Given the description of an element on the screen output the (x, y) to click on. 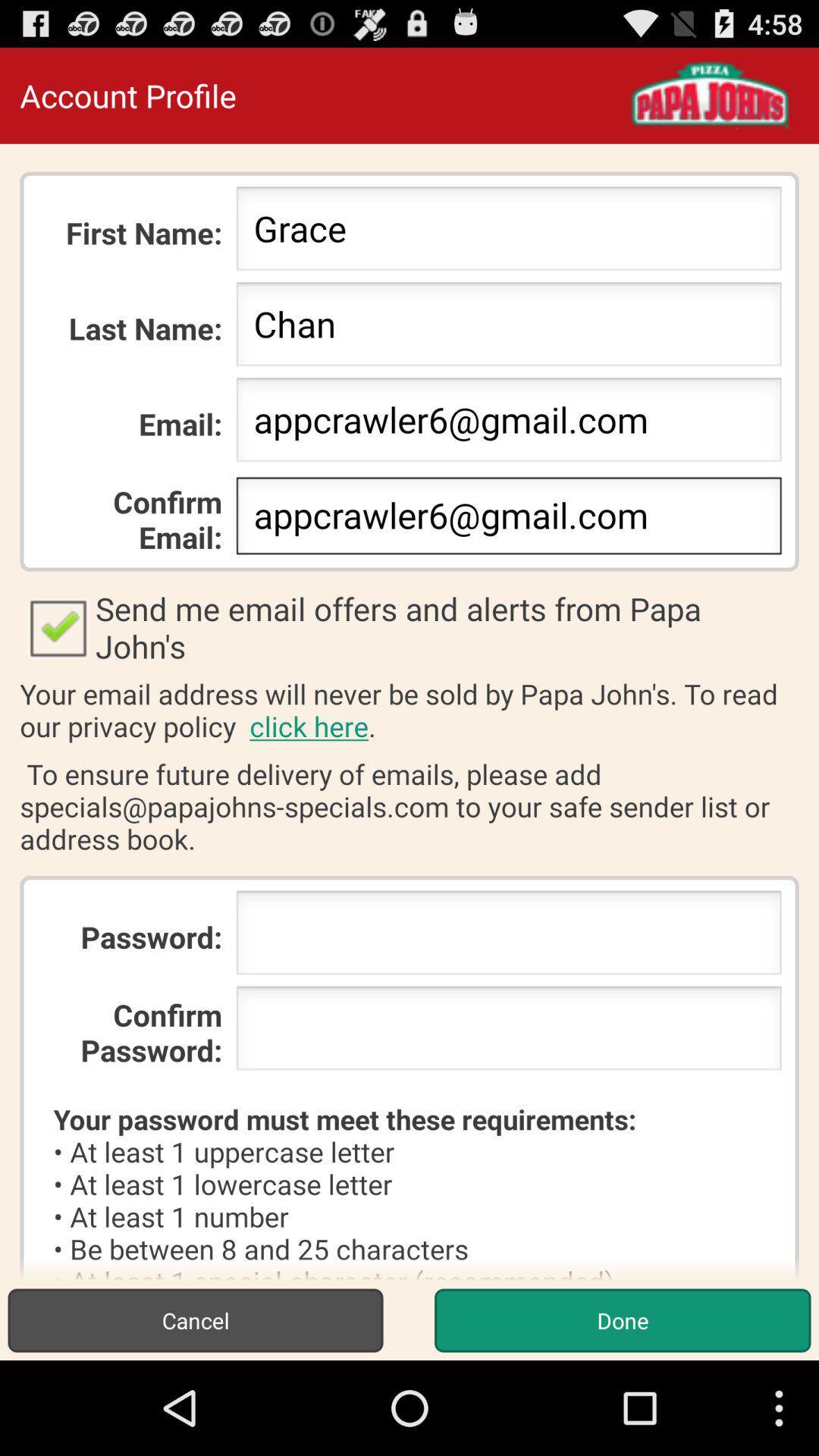
choose icon to the right of first name: item (508, 232)
